Given the description of an element on the screen output the (x, y) to click on. 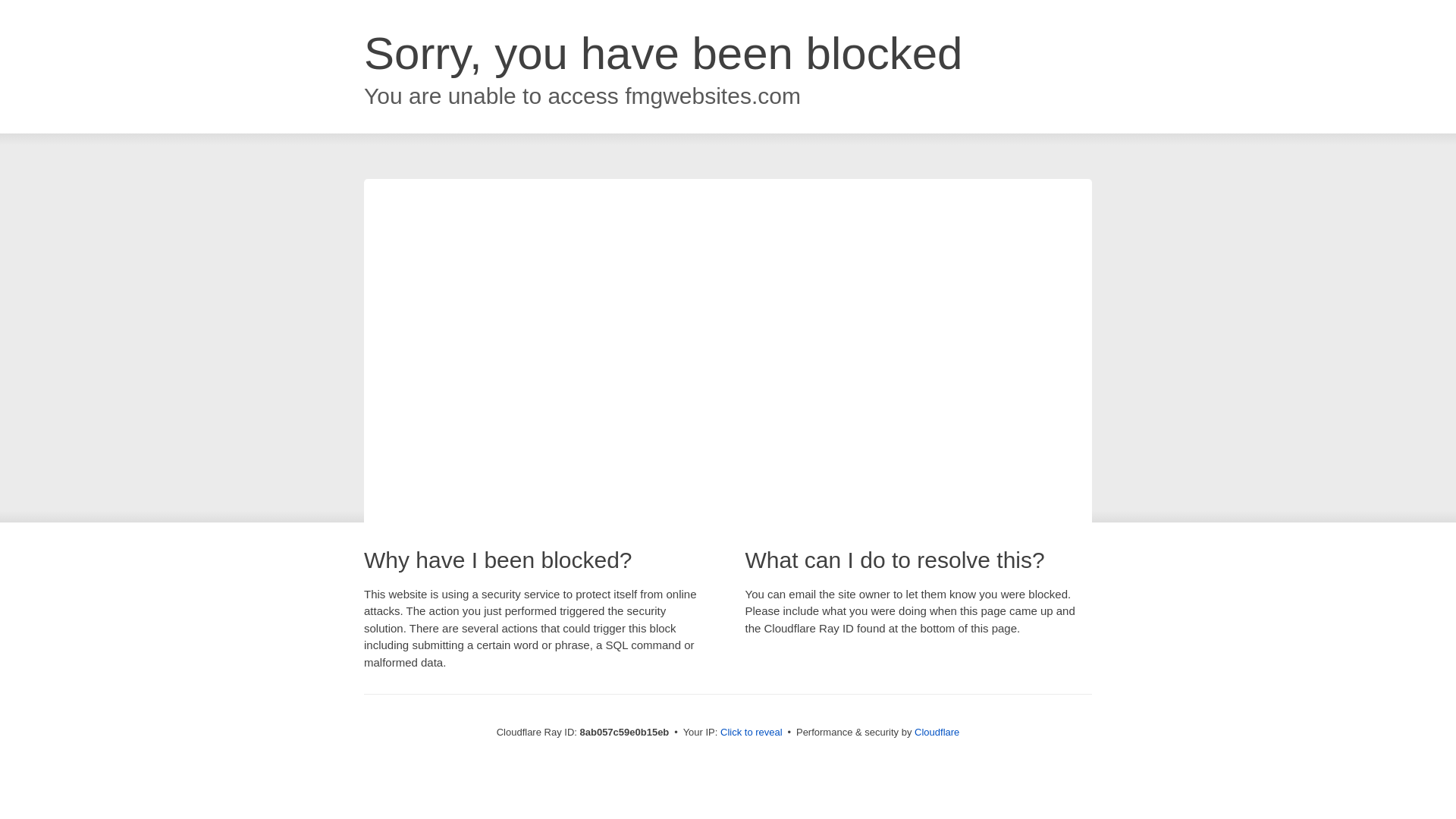
Click to reveal (751, 732)
Cloudflare (936, 731)
